Given the description of an element on the screen output the (x, y) to click on. 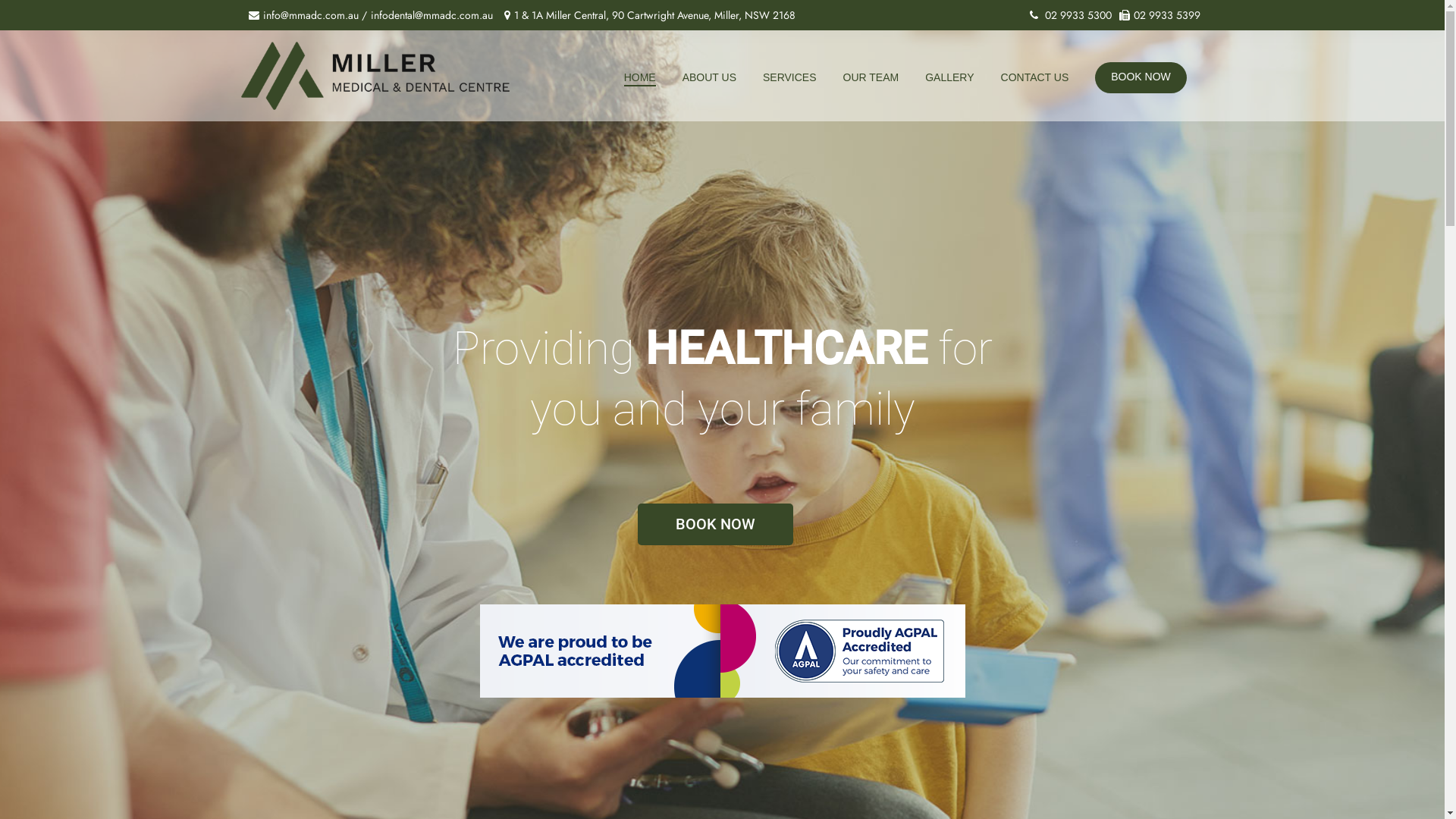
info@mmadc.com.au / Element type: text (309, 15)
infodental@mmadc.com.au Element type: text (432, 15)
CONTACT US Element type: text (1035, 77)
SERVICES Element type: text (789, 77)
GALLERY Element type: text (949, 77)
02 9933 5399 Element type: text (1158, 15)
BOOK NOW Element type: text (714, 524)
02 9933 5300 Element type: text (1069, 15)
HOME Element type: text (639, 77)
OUR TEAM Element type: text (871, 77)
BOOK NOW Element type: text (1140, 77)
ABOUT US Element type: text (709, 77)
